Given the description of an element on the screen output the (x, y) to click on. 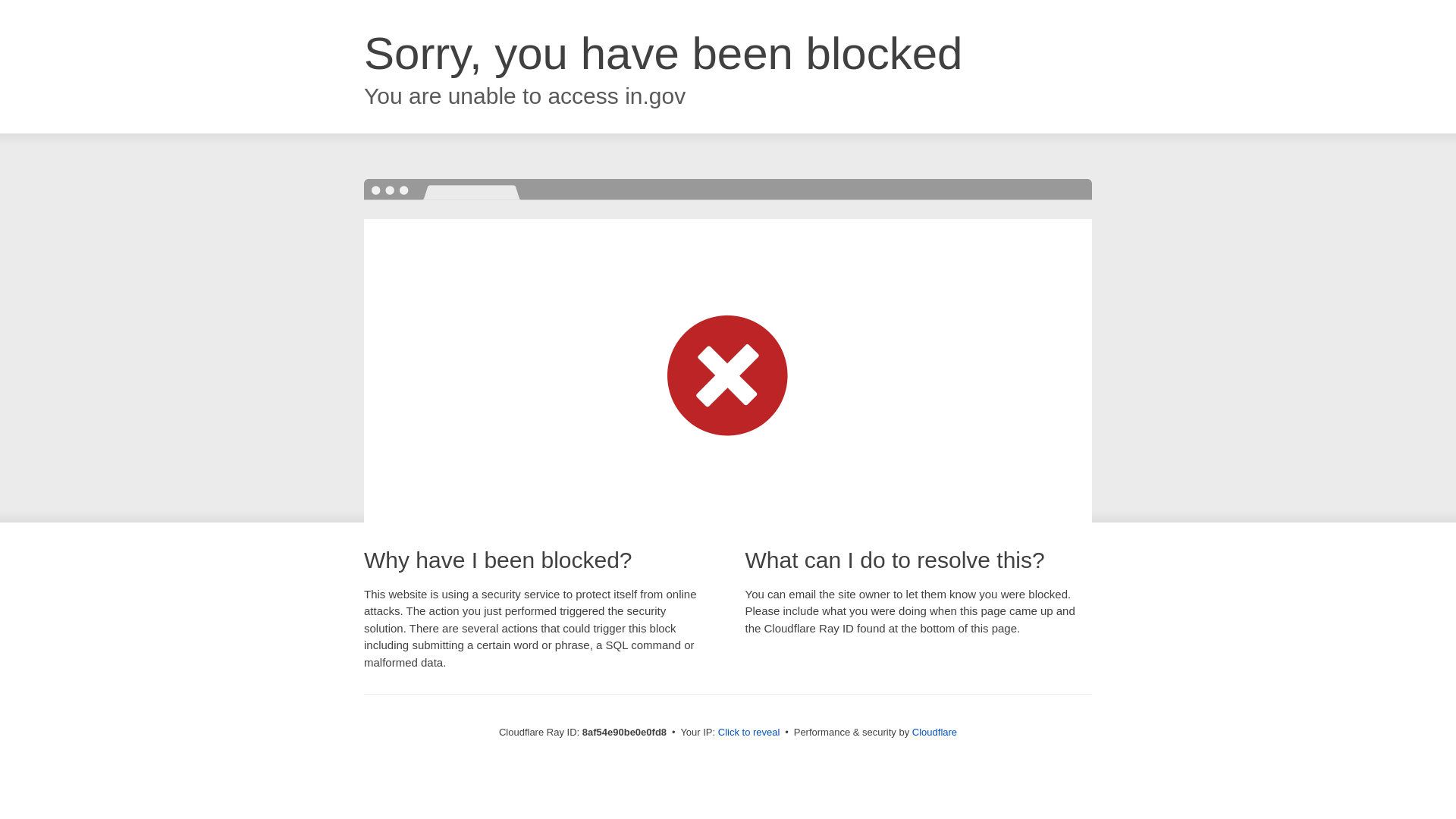
Click to reveal (748, 732)
Cloudflare (934, 731)
